Given the description of an element on the screen output the (x, y) to click on. 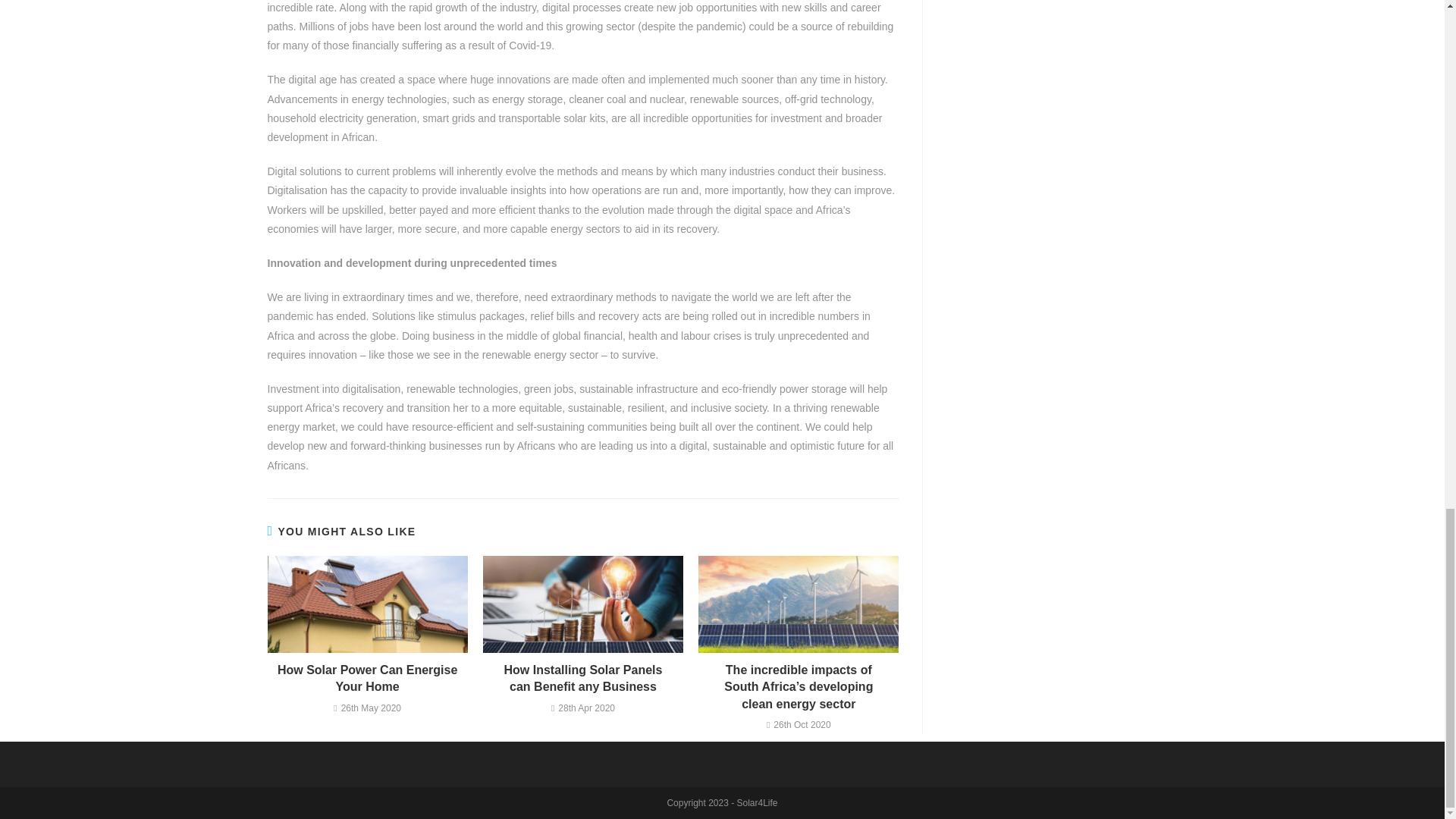
How Solar Power Can Energise Your Home (367, 678)
How Installing Solar Panels can Benefit any Business (583, 678)
